Given the description of an element on the screen output the (x, y) to click on. 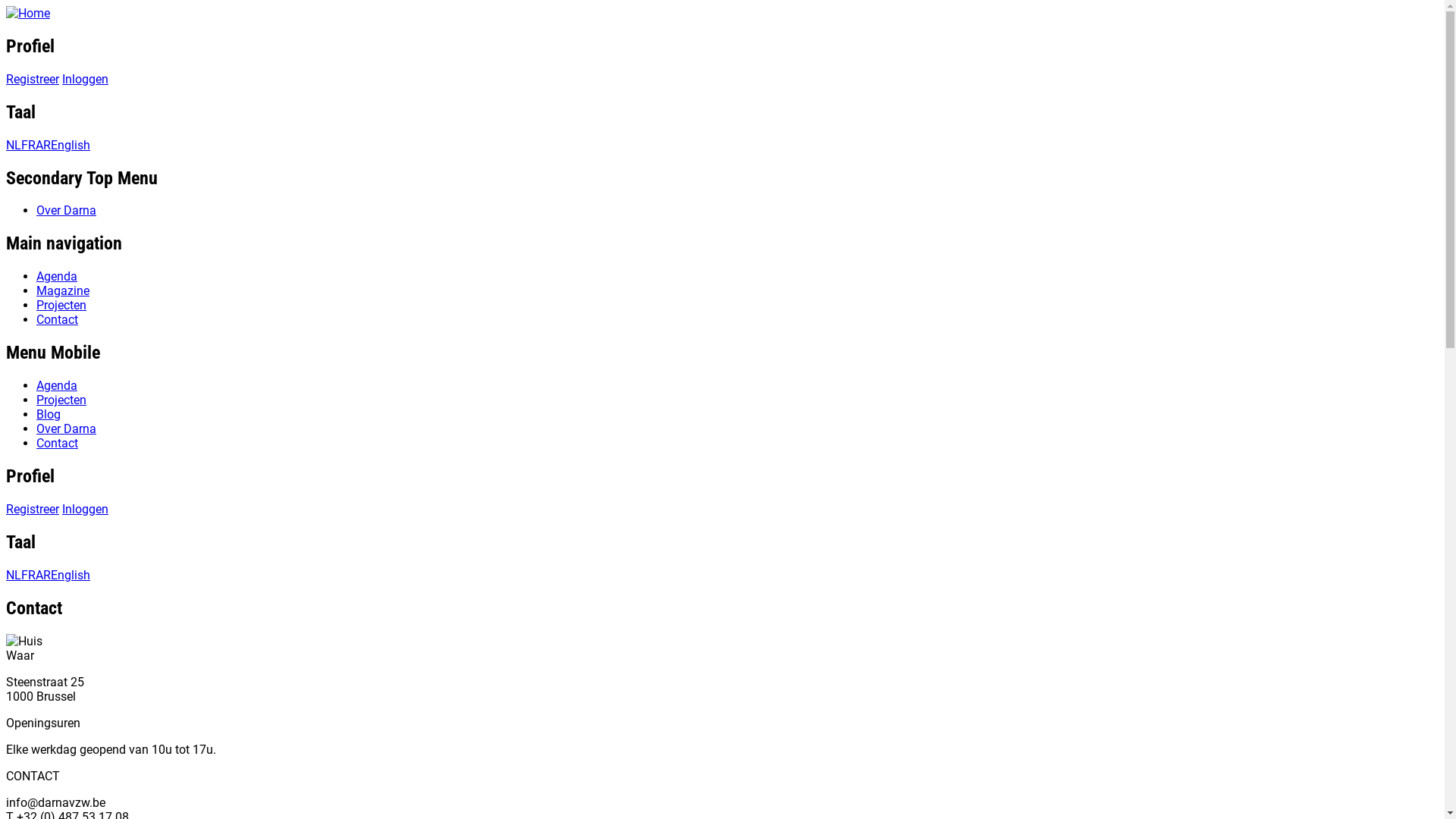
English Element type: text (70, 574)
Registreer Element type: text (32, 509)
Inloggen Element type: text (85, 79)
Contact Element type: text (57, 443)
Home Element type: hover (28, 13)
AR Element type: text (42, 145)
Contact Element type: text (57, 319)
Over Darna Element type: text (66, 210)
NL Element type: text (13, 574)
Projecten Element type: text (61, 305)
Inloggen Element type: text (85, 509)
Magazine Element type: text (62, 290)
Agenda Element type: text (56, 276)
Agenda Element type: text (56, 385)
Skip to main content Element type: text (6, 6)
English Element type: text (70, 145)
NL Element type: text (13, 145)
Blog Element type: text (48, 414)
Over Darna Element type: text (66, 428)
FR Element type: text (28, 574)
AR Element type: text (42, 574)
Projecten Element type: text (61, 399)
Registreer Element type: text (32, 79)
FR Element type: text (28, 145)
